Given the description of an element on the screen output the (x, y) to click on. 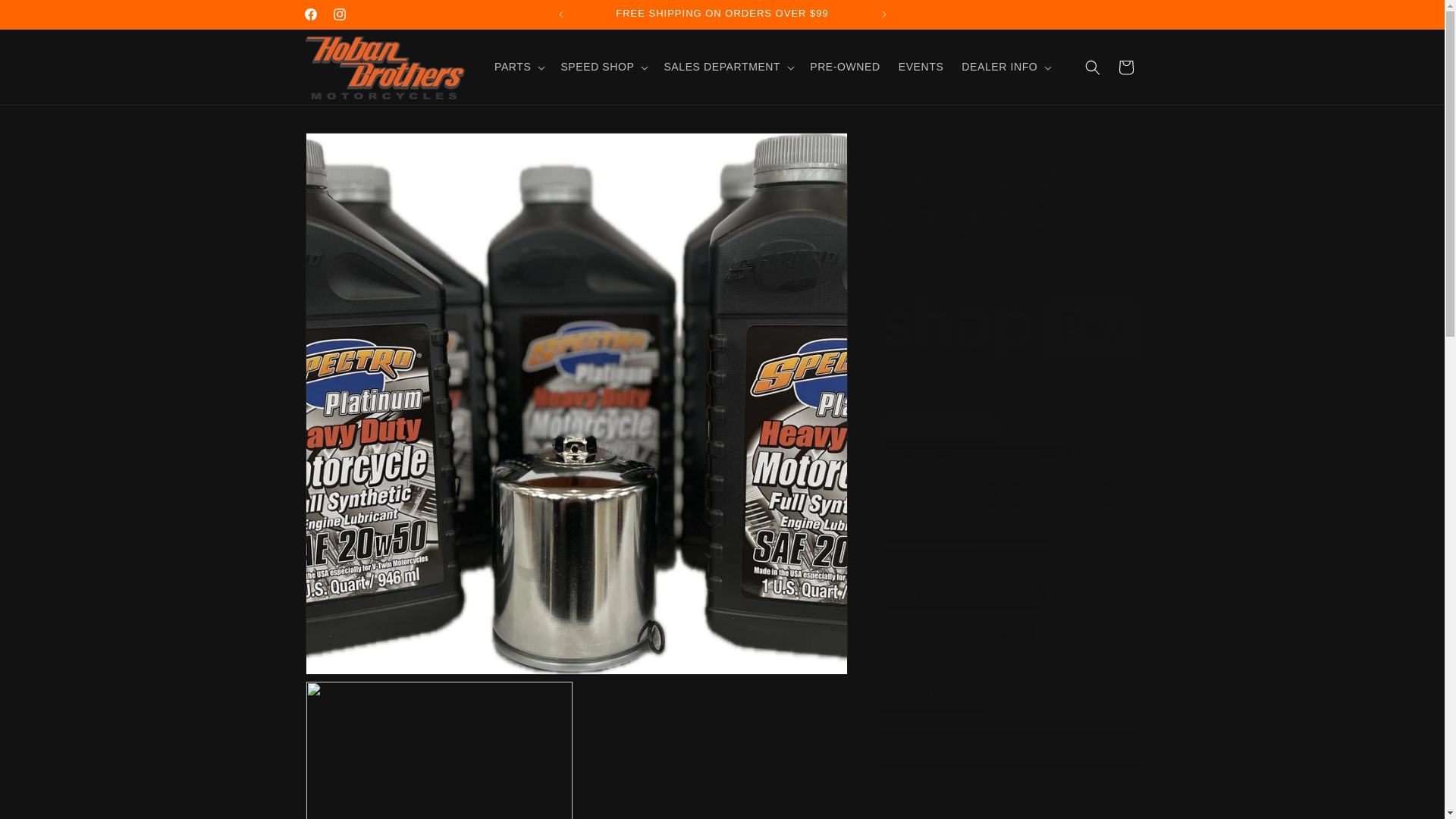
Instagram (338, 14)
Open media 4 in modal (438, 749)
1 (931, 694)
Facebook (309, 14)
Skip to content (45, 17)
